Given the description of an element on the screen output the (x, y) to click on. 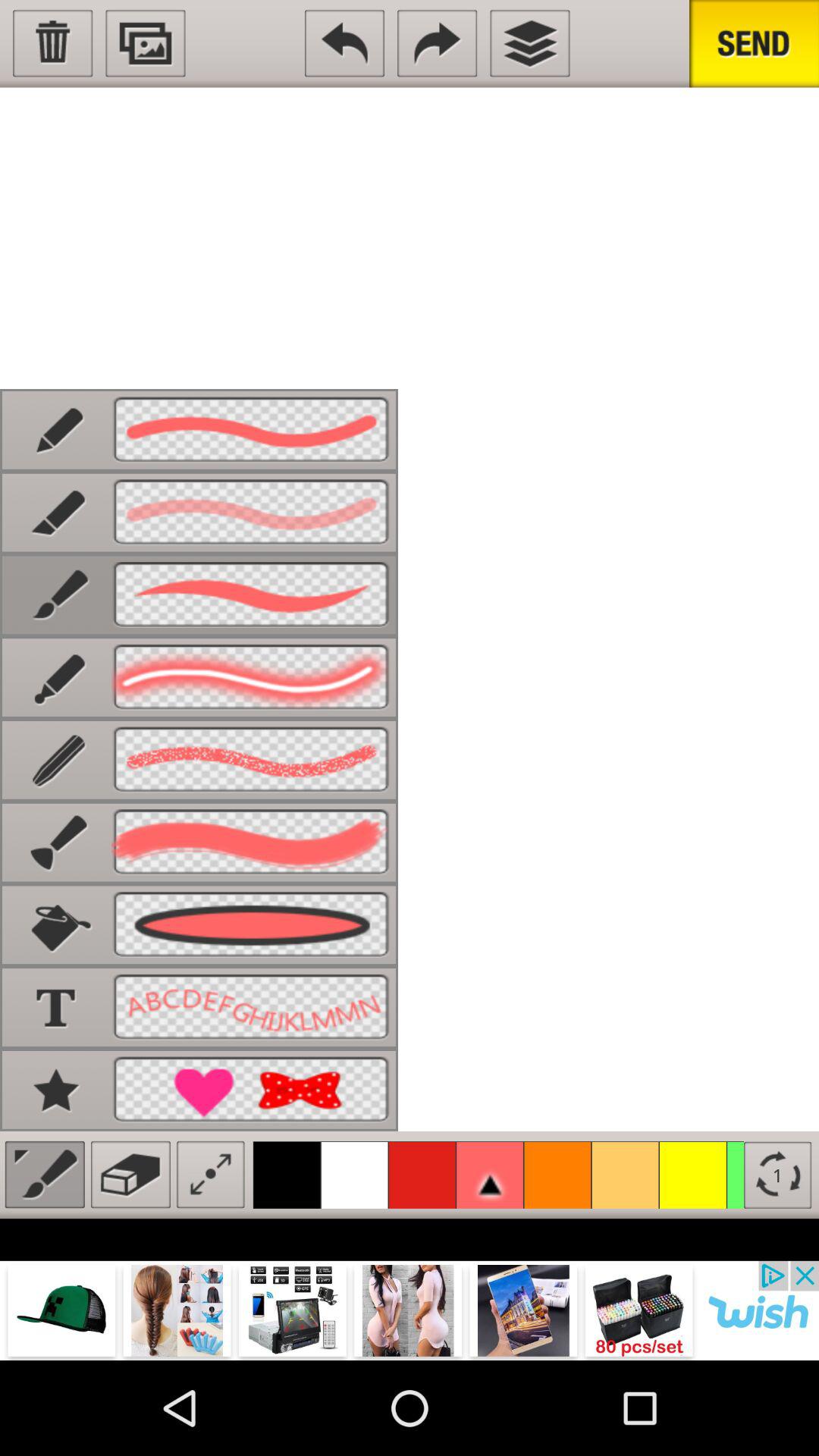
delete sketch (52, 43)
